Given the description of an element on the screen output the (x, y) to click on. 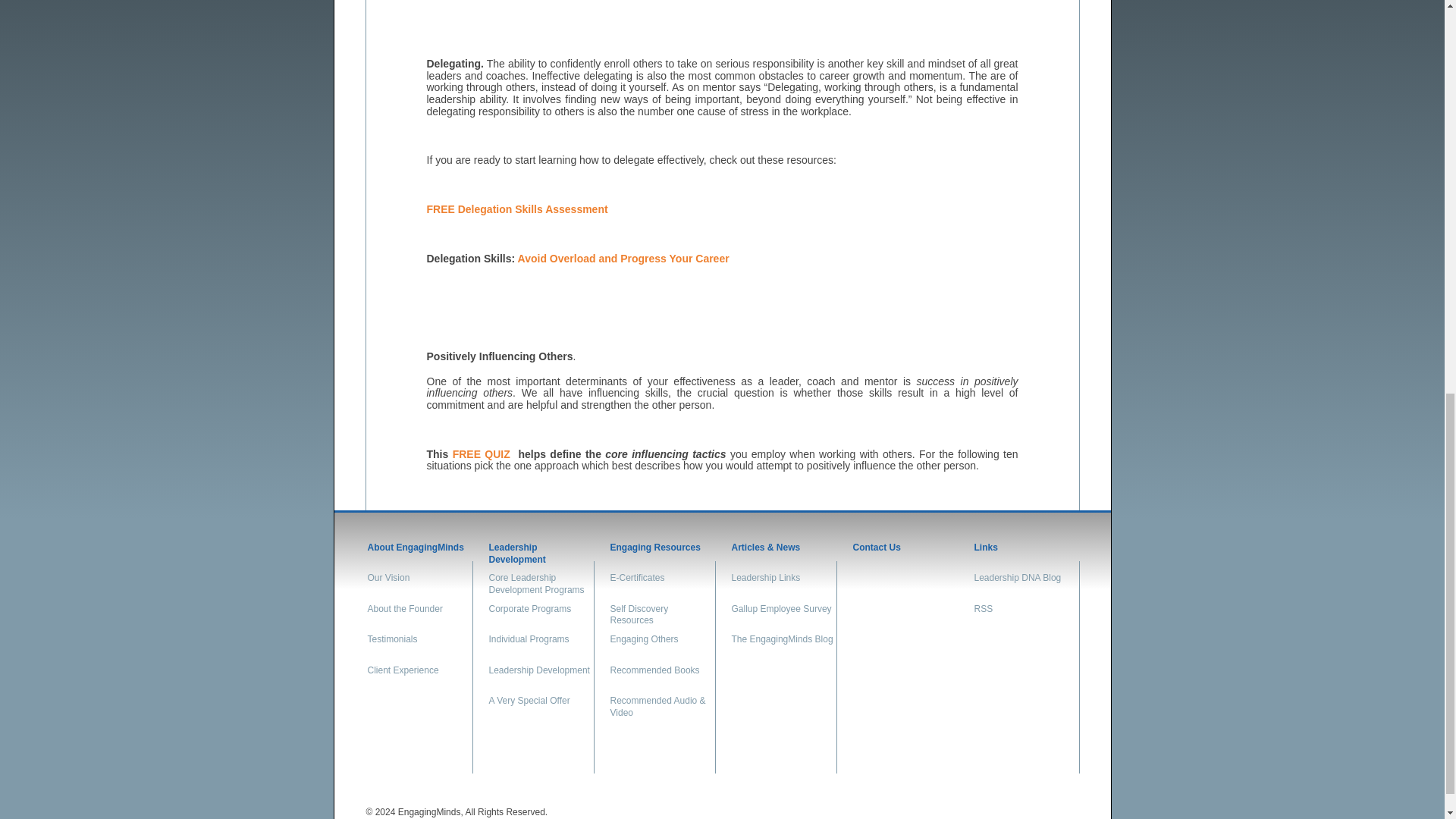
Avoid Overload and Progress Your Career (623, 258)
Core Leadership Development Programs (539, 581)
Individual Programs (539, 642)
About the Founder (418, 612)
Corporate Programs (539, 612)
Leadership Development (539, 673)
Our Vision (418, 581)
Client Experience (418, 673)
FREE Delegation Skills Assessment (516, 209)
Leadership Development (539, 551)
